Given the description of an element on the screen output the (x, y) to click on. 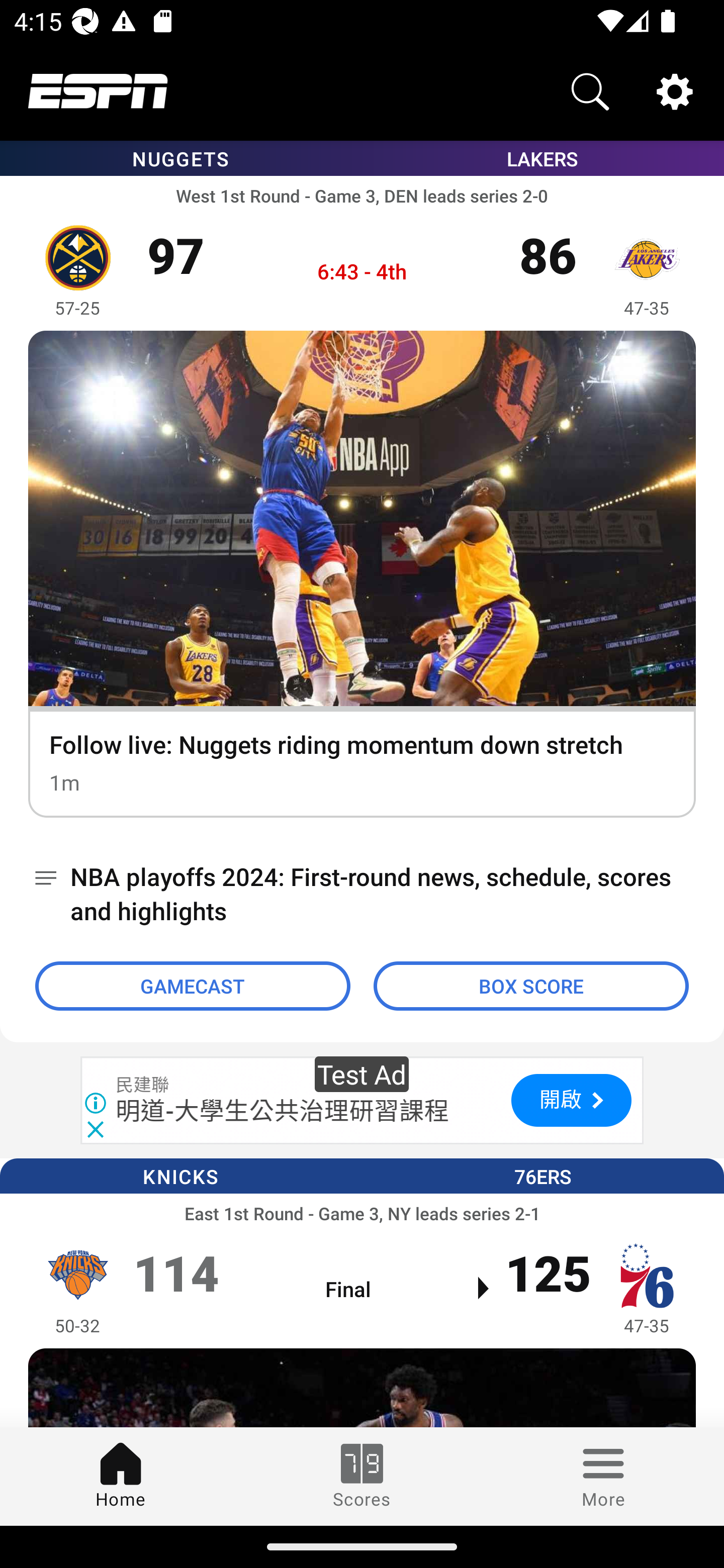
Search (590, 90)
Settings (674, 90)
GAMECAST (192, 986)
BOX SCORE (530, 986)
Scores (361, 1475)
More (603, 1475)
